Given the description of an element on the screen output the (x, y) to click on. 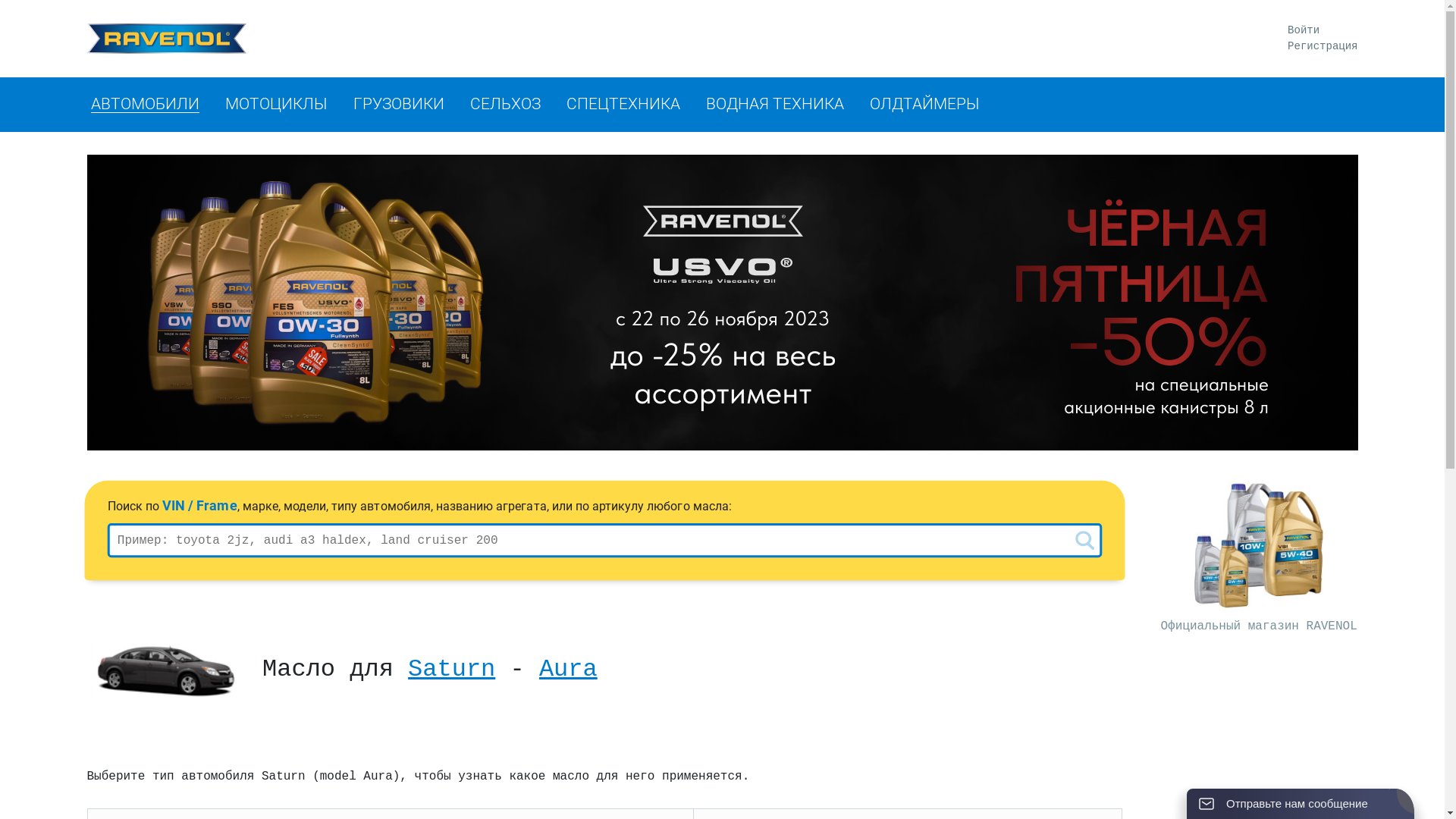
Saturn Aura Element type: hover (165, 674)
Aura Element type: text (568, 669)
Saturn Element type: text (451, 669)
